Given the description of an element on the screen output the (x, y) to click on. 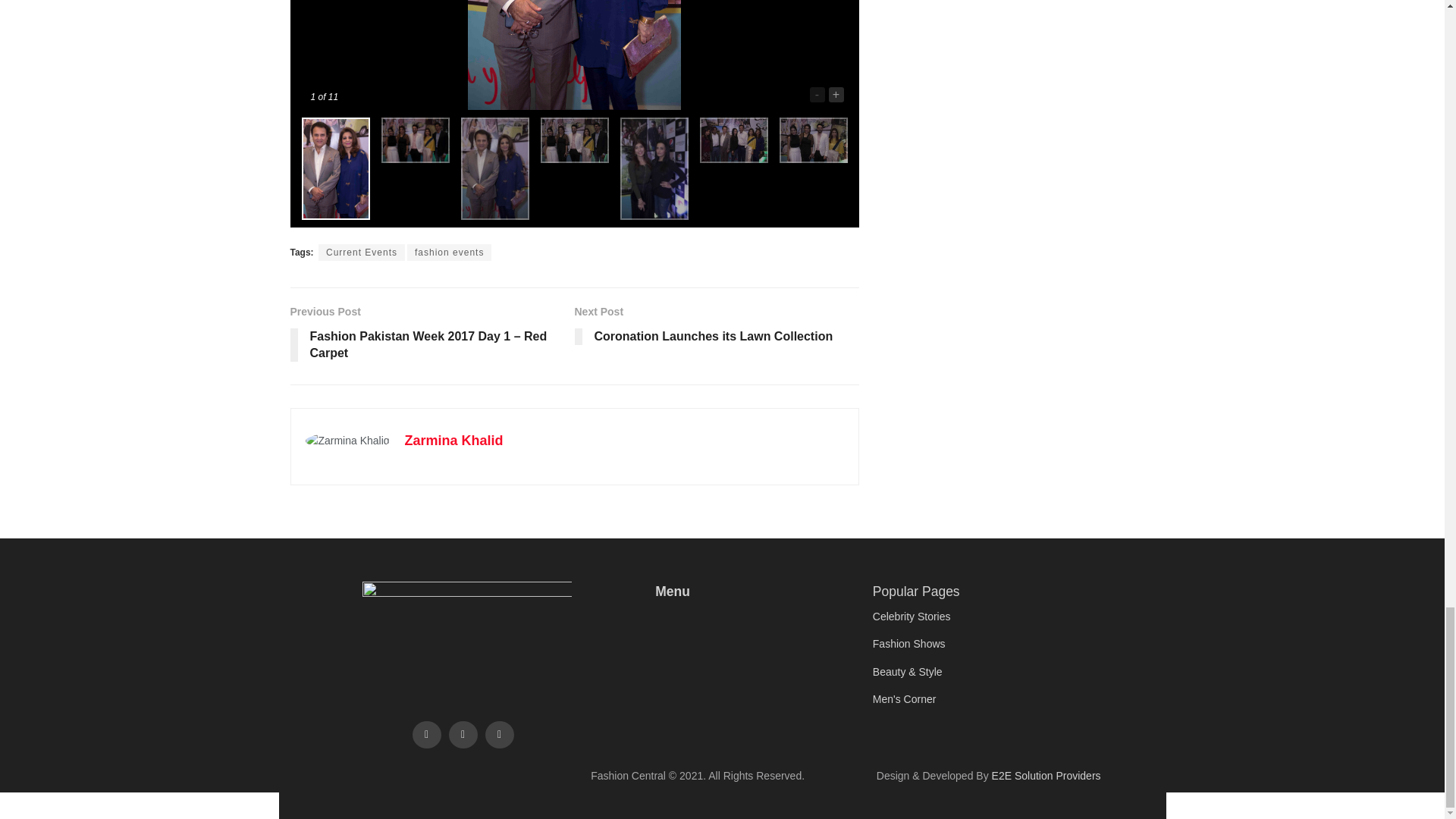
final logo (467, 631)
